Given the description of an element on the screen output the (x, y) to click on. 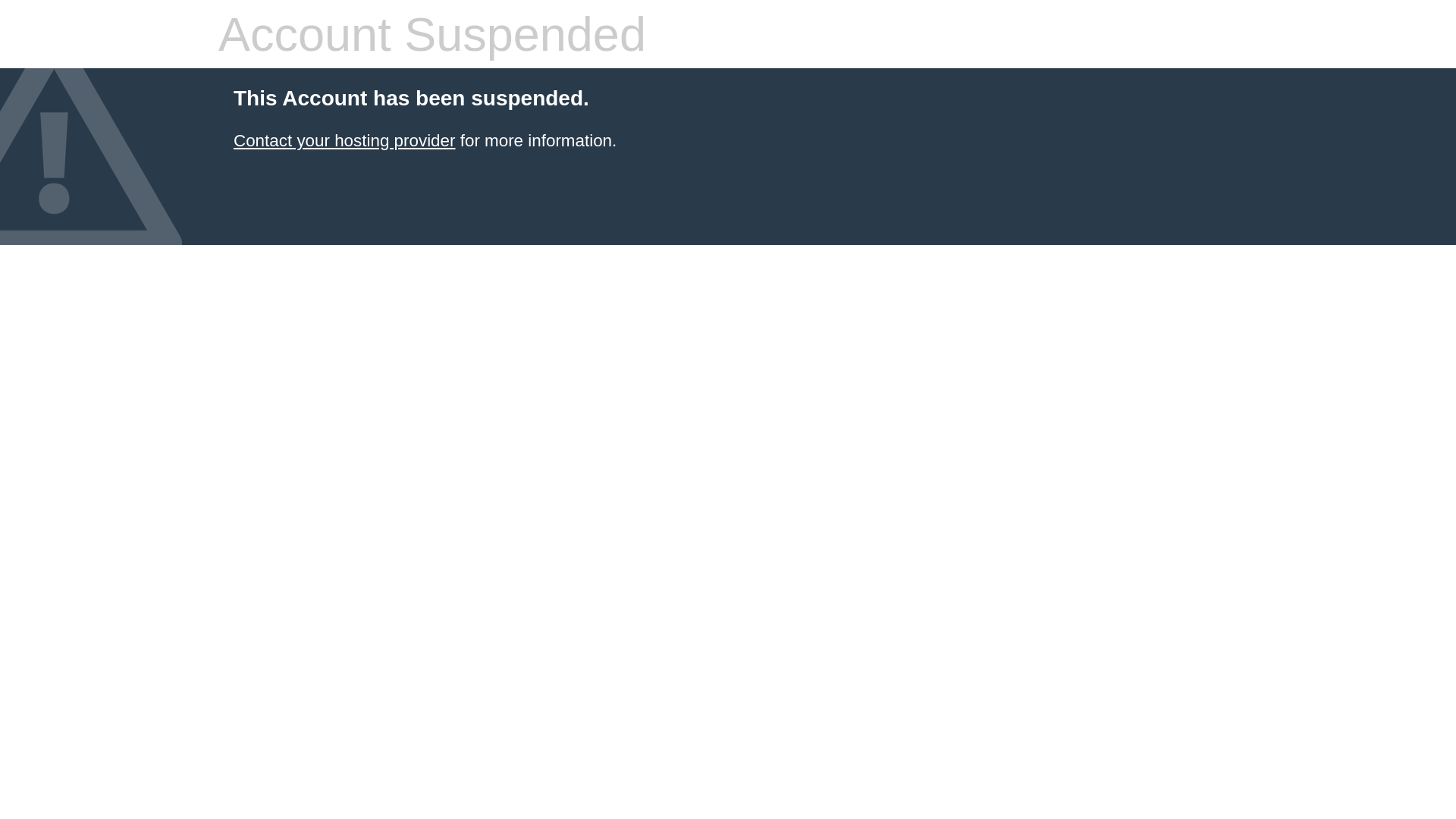
Contact your hosting provider Element type: text (344, 140)
